Given the description of an element on the screen output the (x, y) to click on. 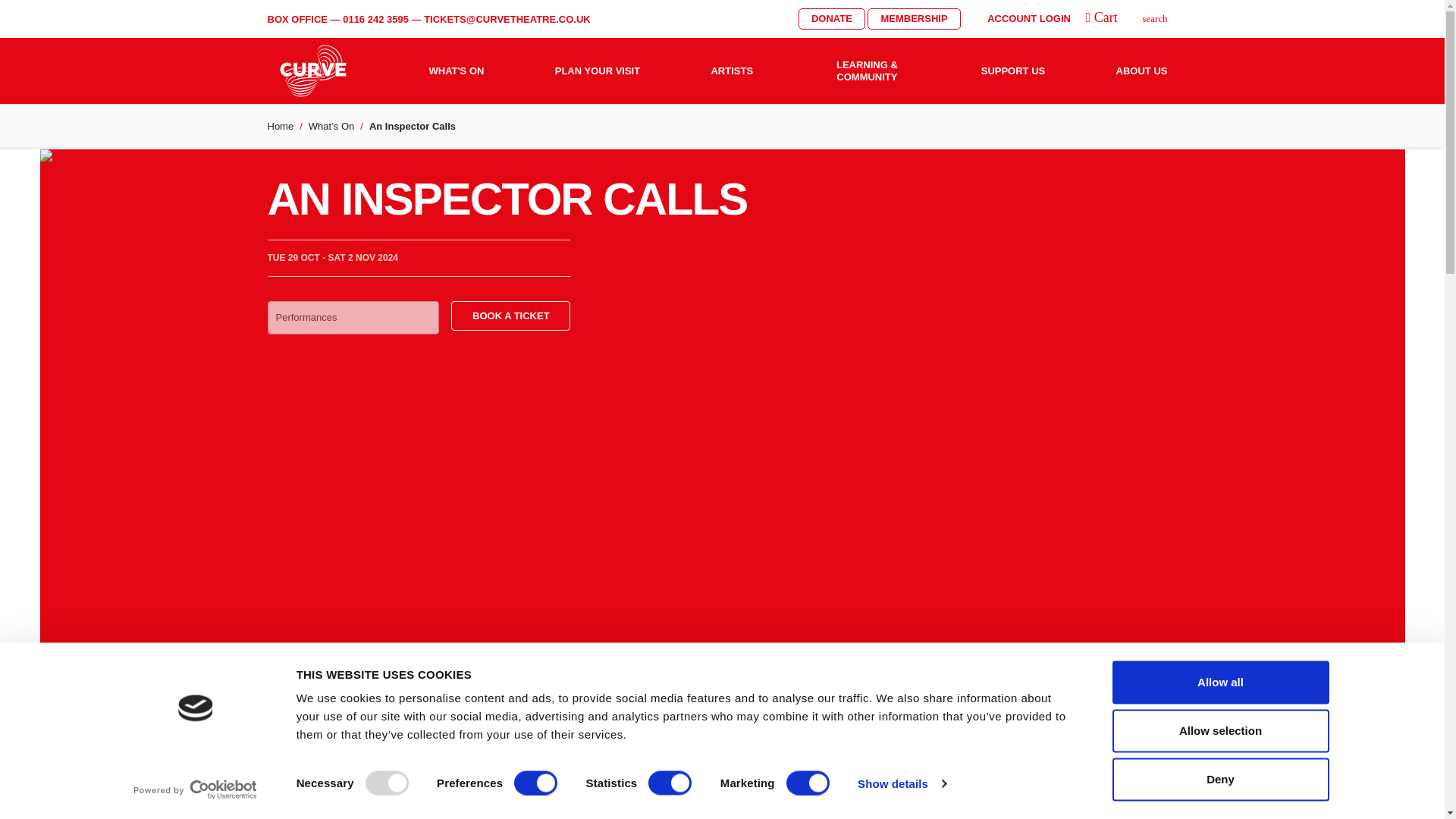
Show details (900, 783)
